Given the description of an element on the screen output the (x, y) to click on. 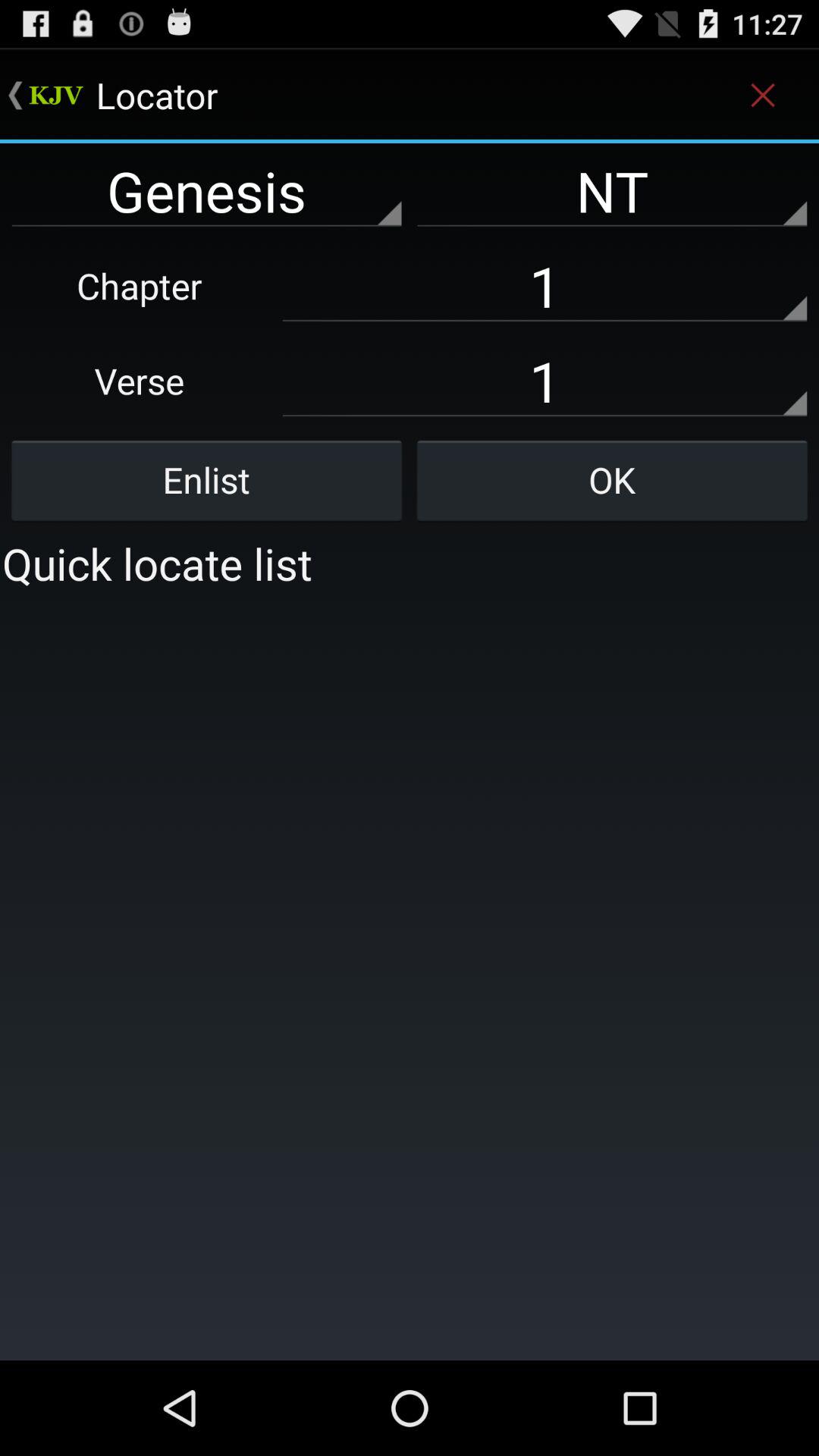
open the app above the quick locate list icon (612, 479)
